Given the description of an element on the screen output the (x, y) to click on. 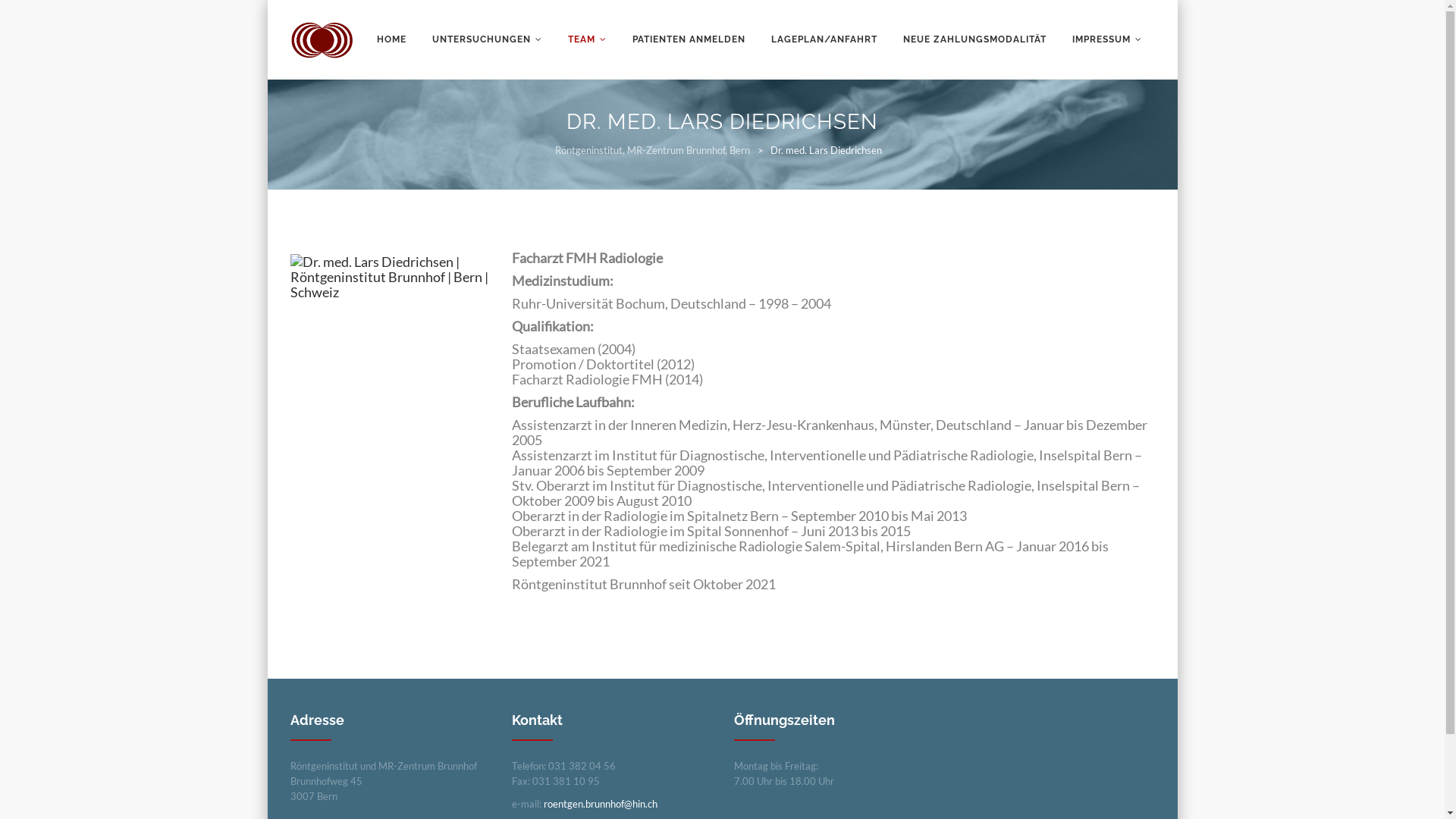
PATIENTEN ANMELDEN Element type: text (687, 39)
roentgen.brunnhof@hin.ch Element type: text (600, 803)
TEAM Element type: text (587, 39)
IMPRESSUM Element type: text (1106, 39)
HOME Element type: text (391, 39)
UNTERSUCHUNGEN Element type: text (486, 39)
LAGEPLAN/ANFAHRT Element type: text (824, 39)
